Given the description of an element on the screen output the (x, y) to click on. 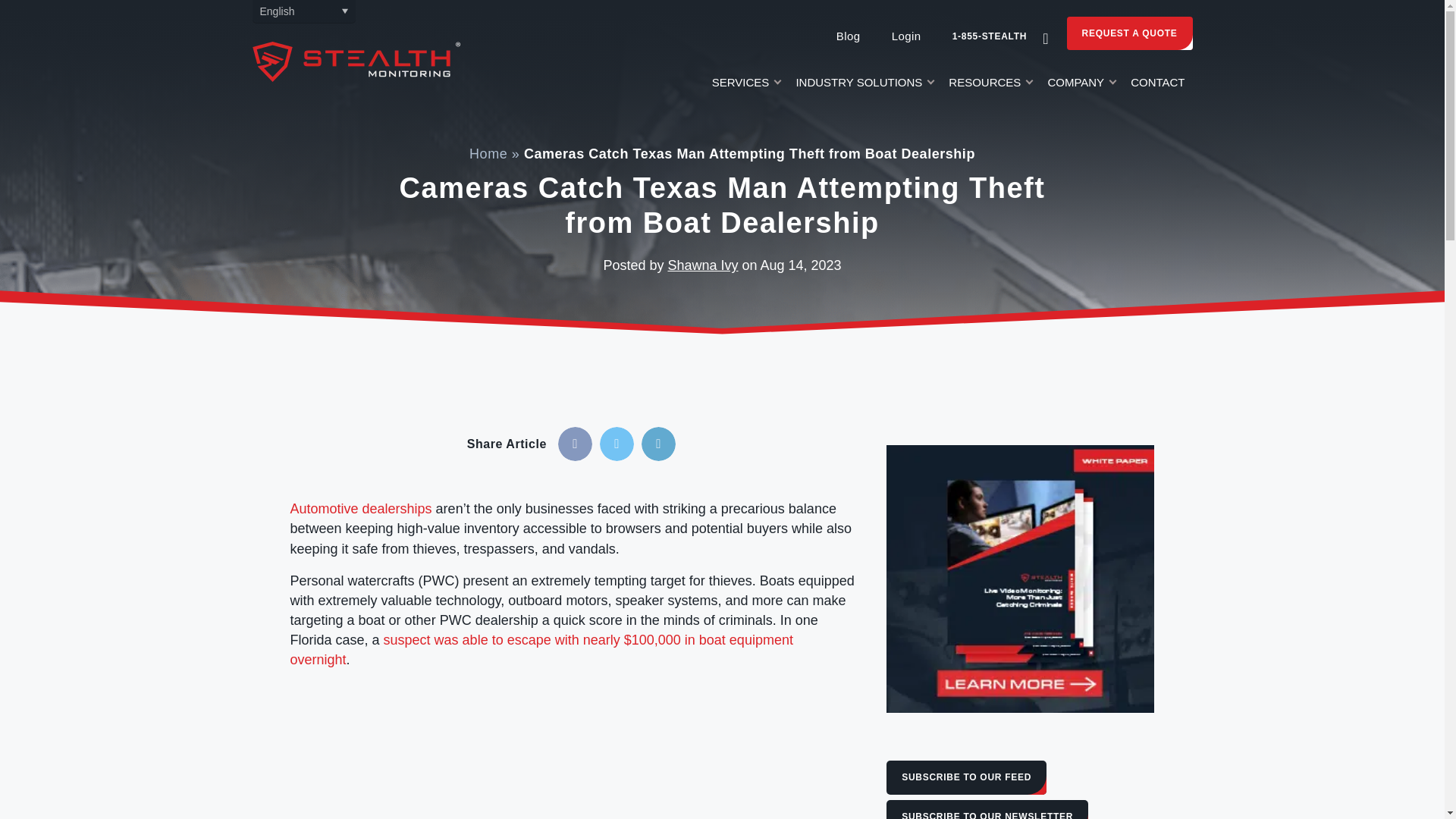
Login (906, 36)
REQUEST A QUOTE (1129, 32)
logo-tr (355, 60)
1-855-STEALTH (989, 36)
Blog (848, 36)
SERVICES (746, 87)
INDUSTRY SOLUTIONS (863, 87)
